Given the description of an element on the screen output the (x, y) to click on. 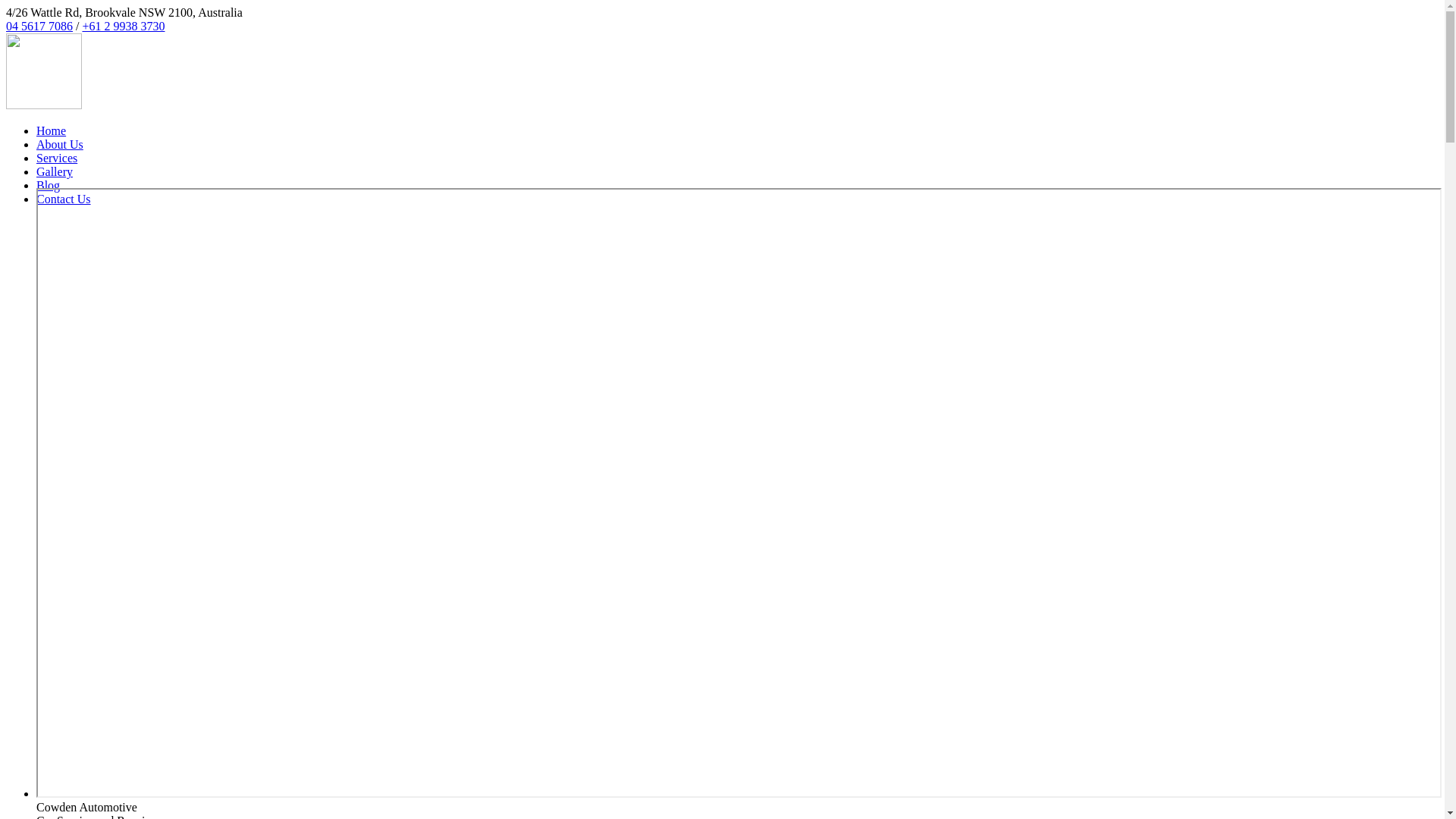
04 5617 7086 Element type: text (39, 25)
Gallery Element type: text (54, 171)
Contact Us Element type: text (63, 198)
Services Element type: text (56, 157)
About Us Element type: text (59, 144)
Blog Element type: text (47, 184)
+61 2 9938 3730 Element type: text (122, 25)
Home Element type: text (50, 130)
